Given the description of an element on the screen output the (x, y) to click on. 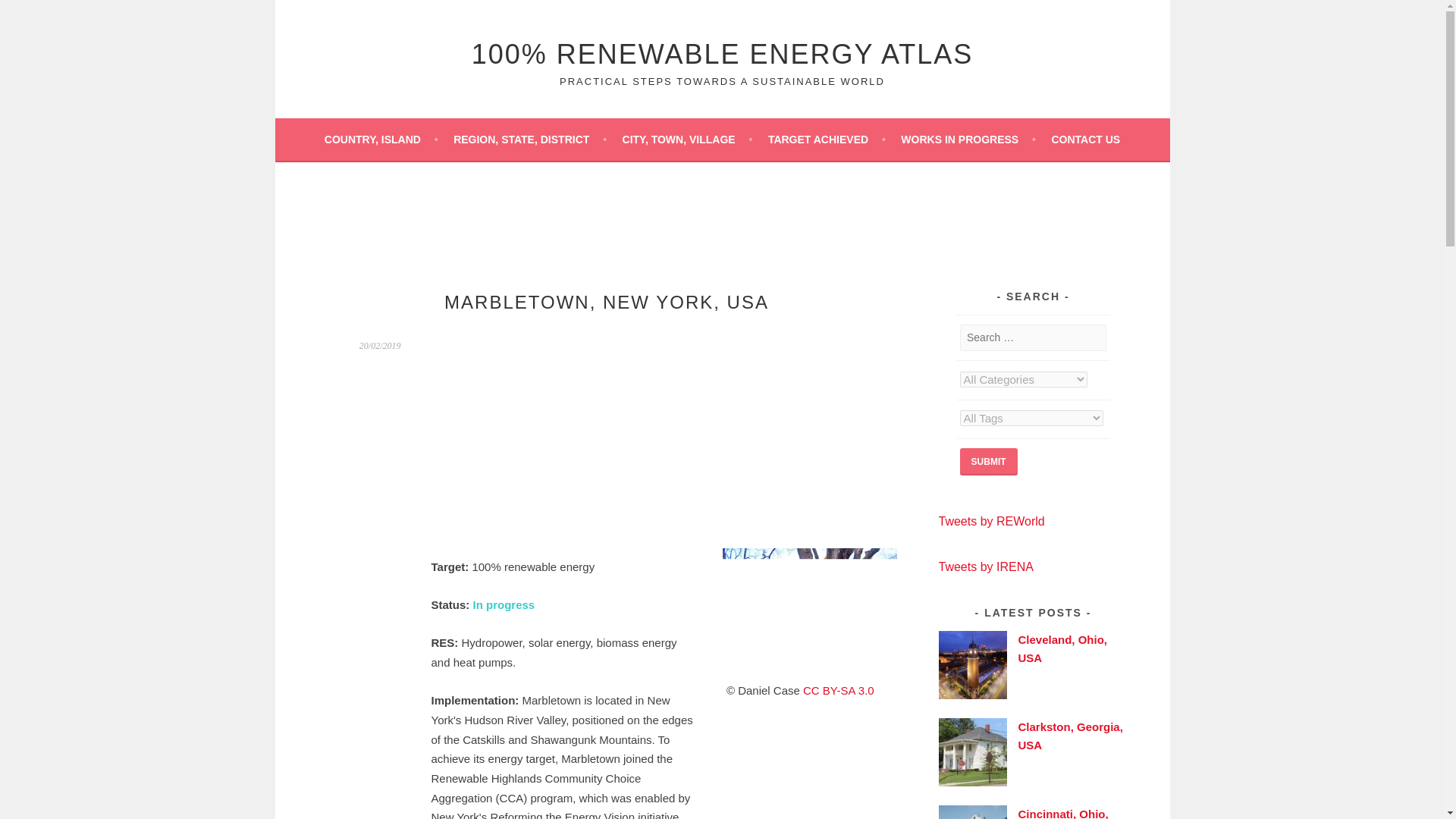
WORKS IN PROGRESS (968, 139)
CONTACT US (1085, 139)
Search (30, 13)
CC BY-SA 3.0 (839, 689)
Submit (988, 461)
Cleveland, Ohio, USA (1061, 648)
Wynkoop Stone House, Stone Ridge, Marbletown, New York, USA (809, 611)
Clarkston, Georgia, USA (1069, 735)
Tweets by IRENA (986, 566)
REGION, STATE, DISTRICT (529, 139)
